Given the description of an element on the screen output the (x, y) to click on. 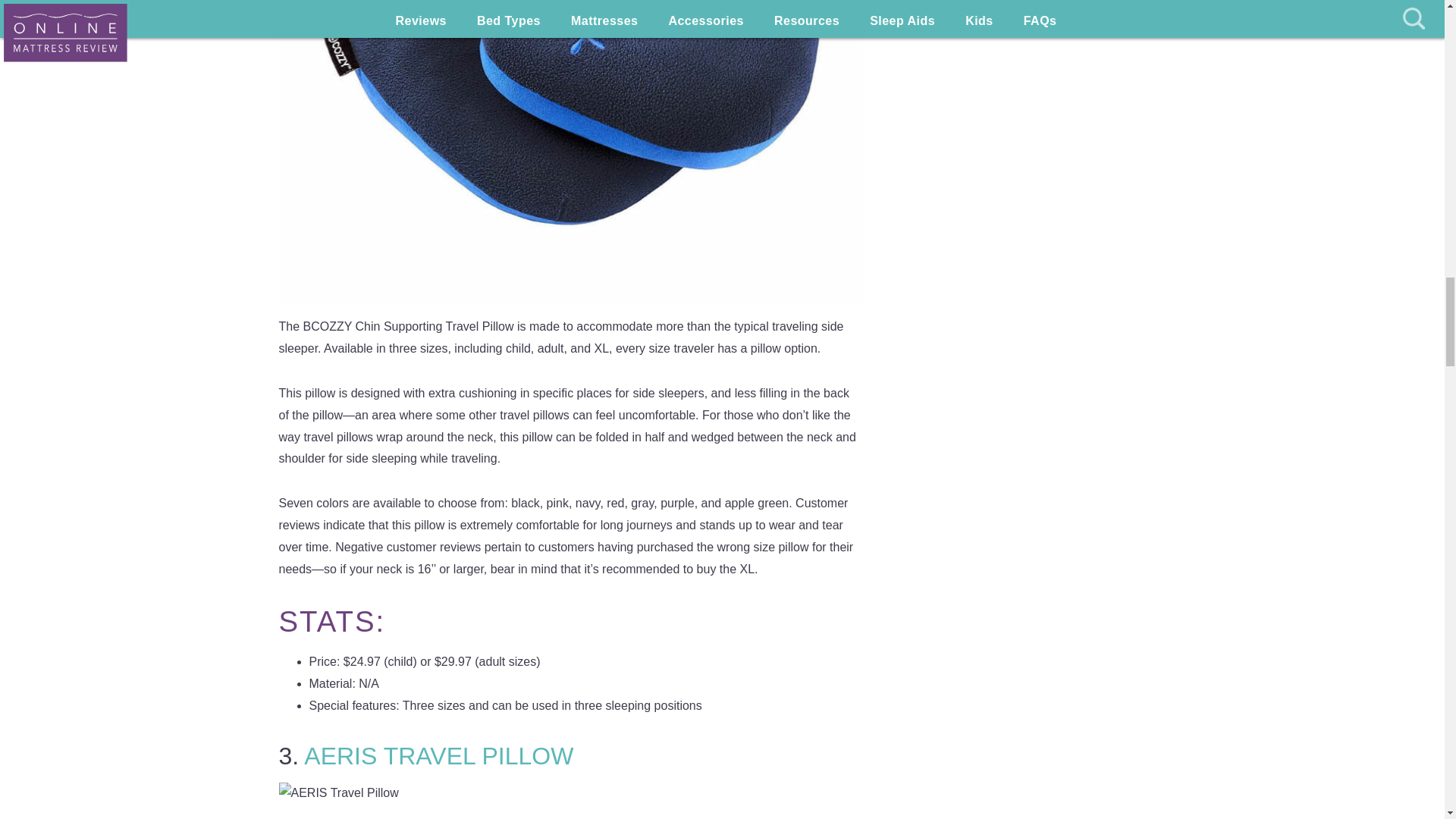
AERIS TRAVEL PILLOW (438, 755)
